Given the description of an element on the screen output the (x, y) to click on. 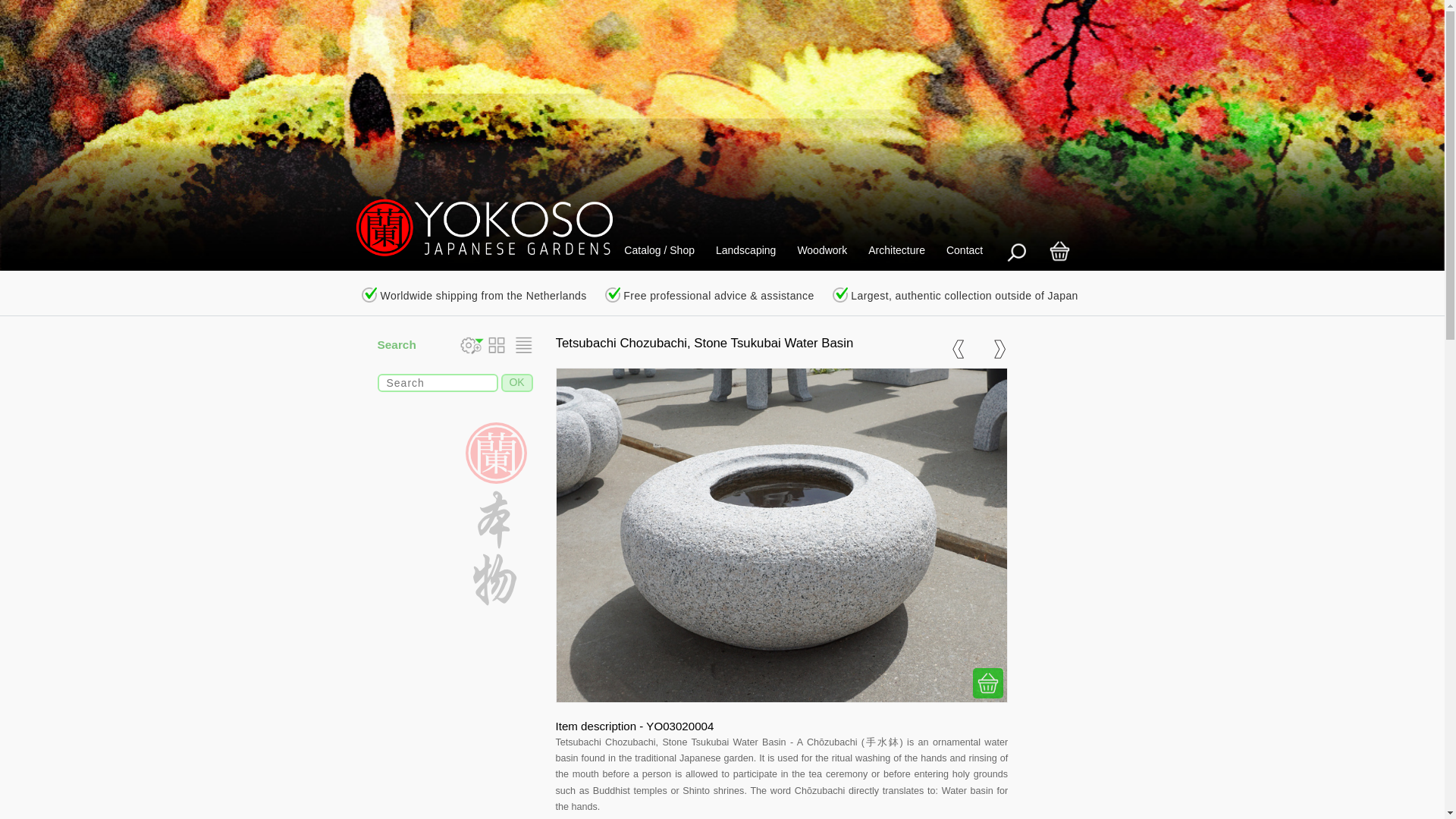
Worldwide shipping from the Netherlands (369, 294)
Largest, most authentic collection outside of Japan (839, 294)
Yokoso Shopping Search (1015, 251)
Woodwork (821, 250)
Free professional advice (612, 294)
Yokoso Japanese Gardens (474, 228)
Yokoso Shopping Cart (1059, 251)
OK (516, 382)
Landscaping (745, 250)
